Given the description of an element on the screen output the (x, y) to click on. 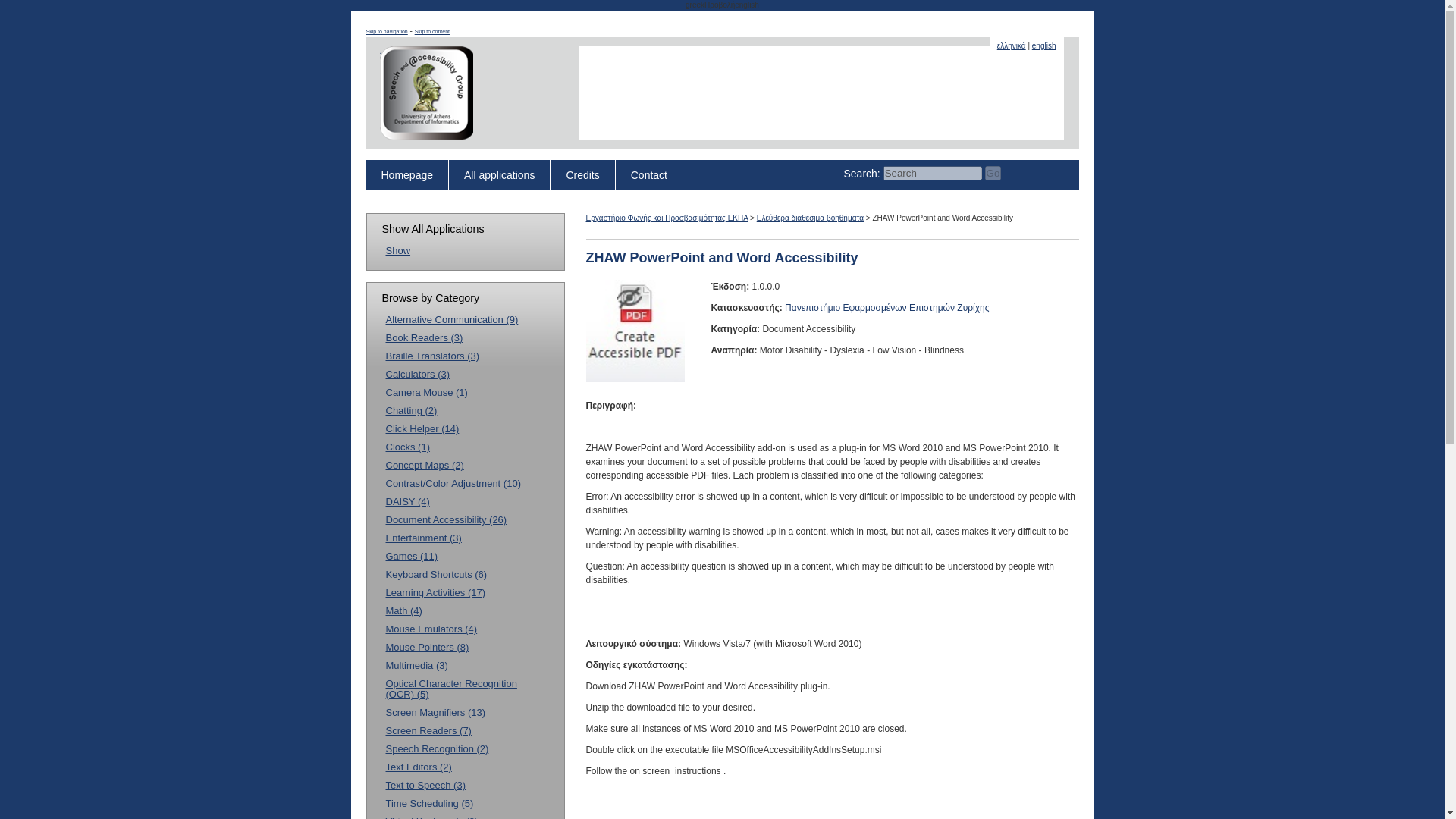
Search (932, 173)
Show (397, 250)
Homepage (406, 174)
All applications (499, 174)
Skip to content (431, 31)
. (424, 92)
Show All Applications (397, 250)
Credits (582, 174)
english (1044, 45)
Contact (648, 174)
Homepage (424, 92)
Opens in a new window: Big picture (634, 378)
Search (932, 173)
Go (993, 173)
Go (993, 173)
